Given the description of an element on the screen output the (x, y) to click on. 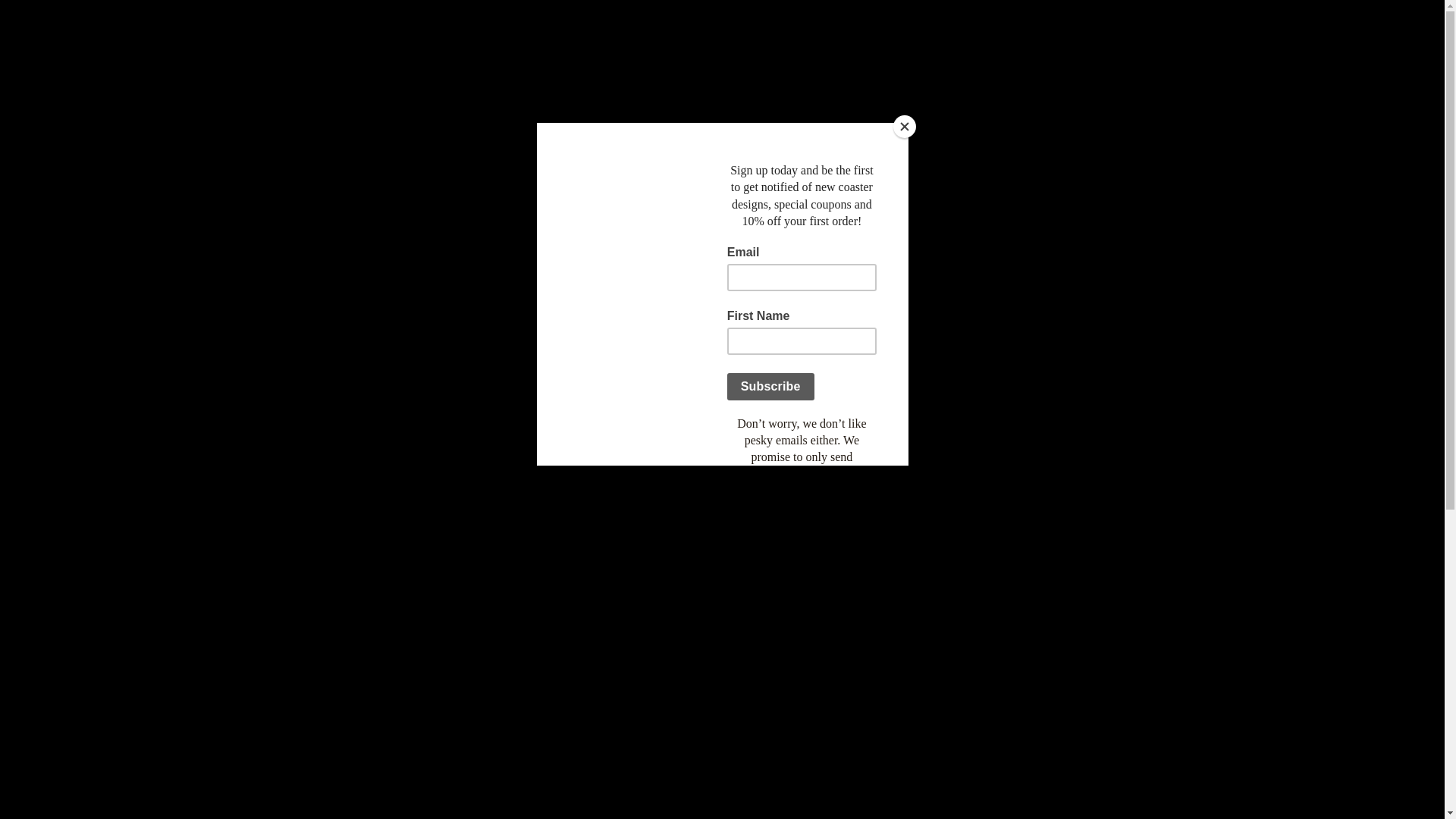
Coaster Collections (389, 189)
